Given the description of an element on the screen output the (x, y) to click on. 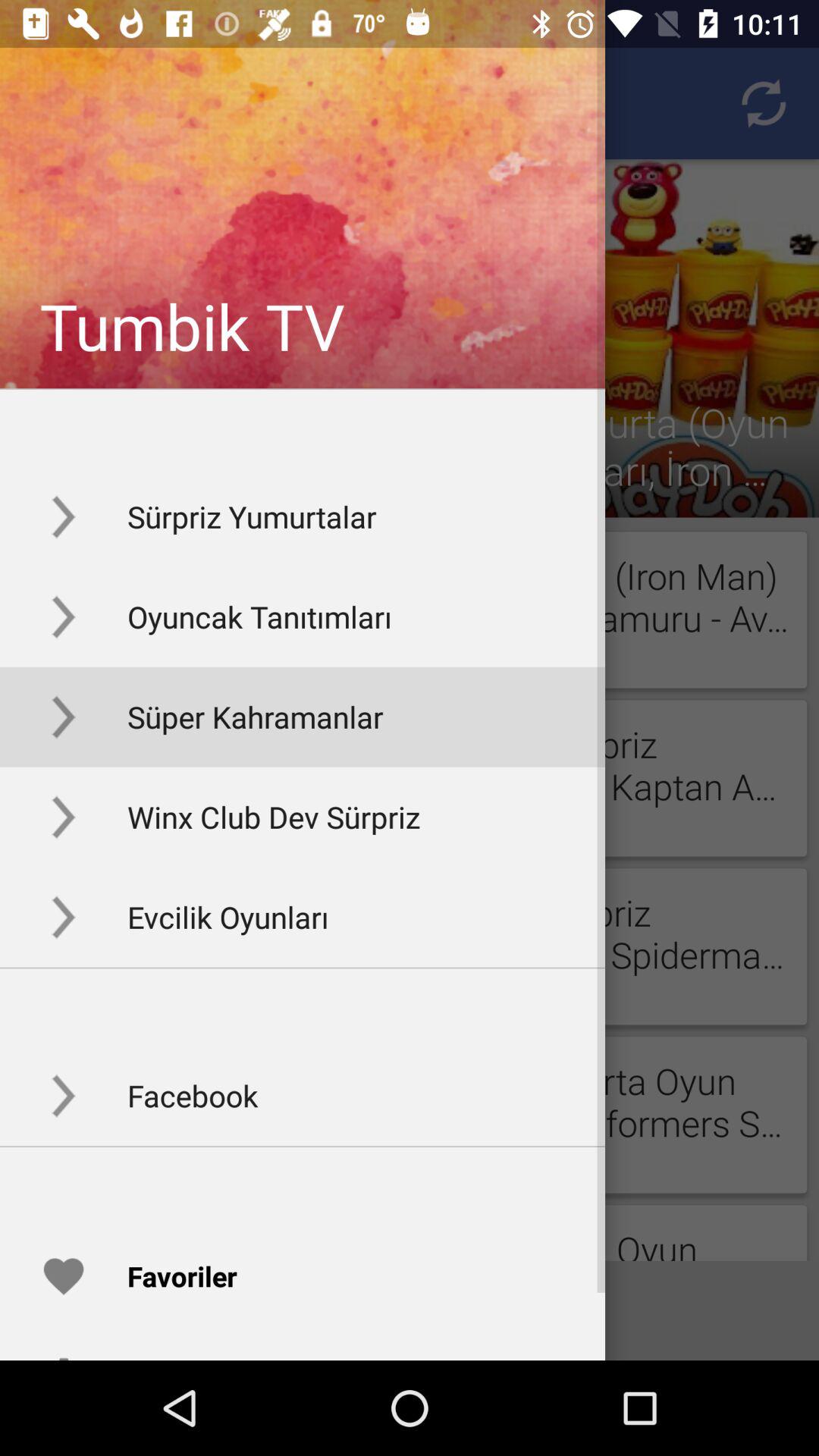
click on the fifth option (302, 917)
